Given the description of an element on the screen output the (x, y) to click on. 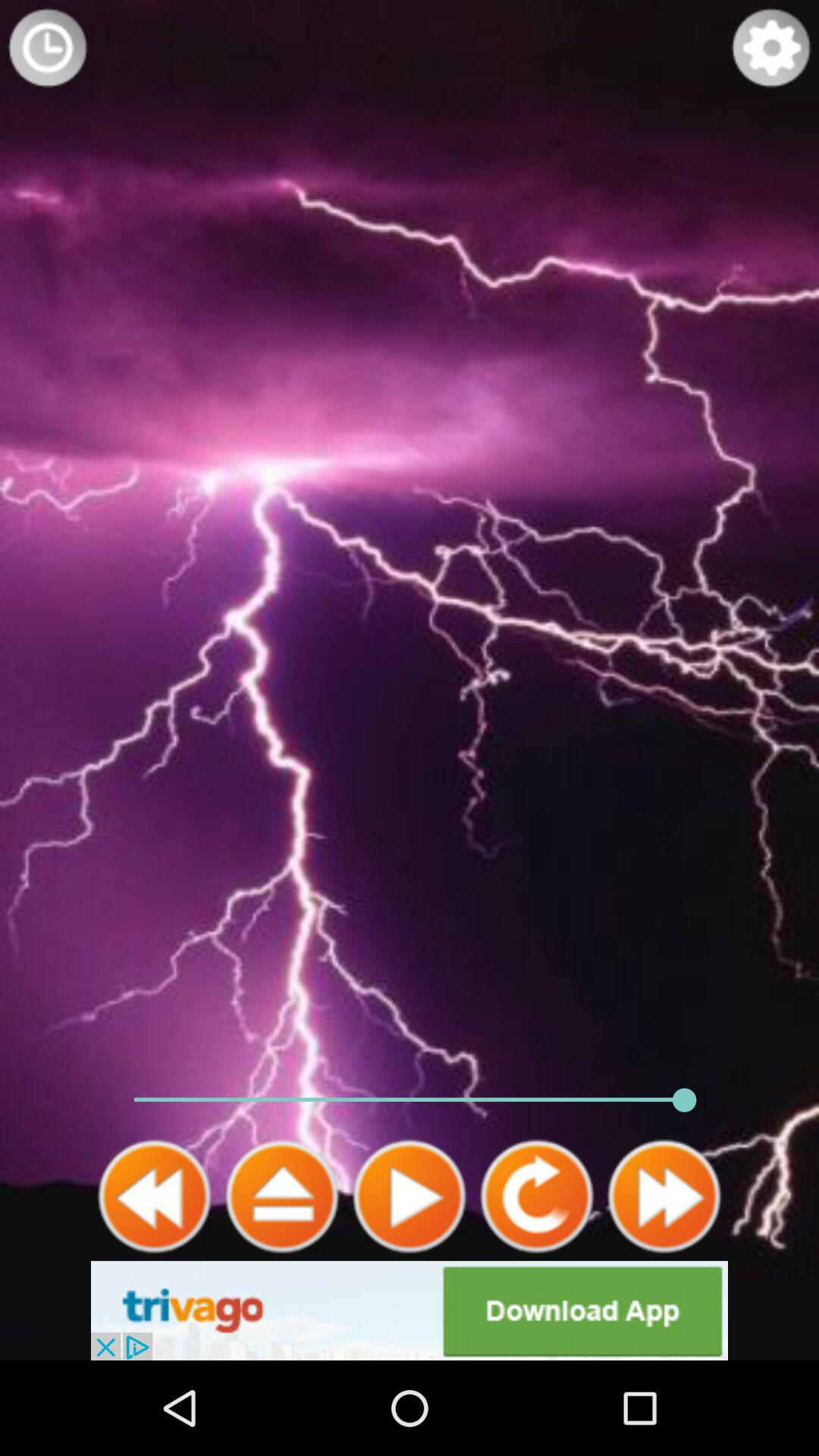
clickable advertisement (409, 1310)
